Given the description of an element on the screen output the (x, y) to click on. 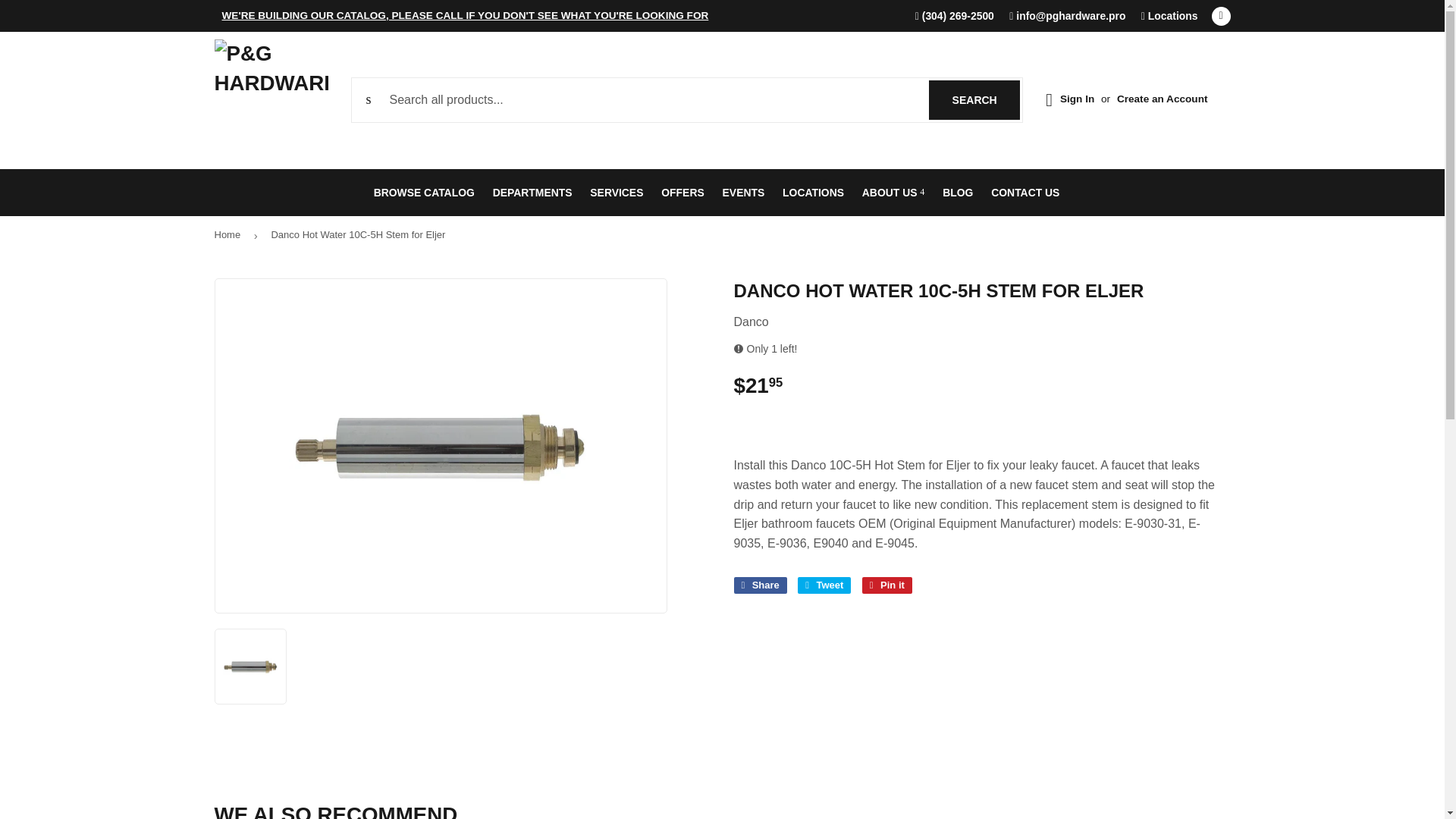
Sign In (1076, 98)
Share on Facebook (760, 585)
OFFERS (682, 192)
BROWSE CATALOG (423, 192)
Create an Account (1162, 98)
EVENTS (743, 192)
Open Product Zoom (441, 445)
Facebook (1220, 15)
DEPARTMENTS (531, 192)
SERVICES (616, 192)
Tweet on Twitter (823, 585)
LOCATIONS (812, 192)
ABOUT US (892, 192)
 Locations (1169, 15)
